Given the description of an element on the screen output the (x, y) to click on. 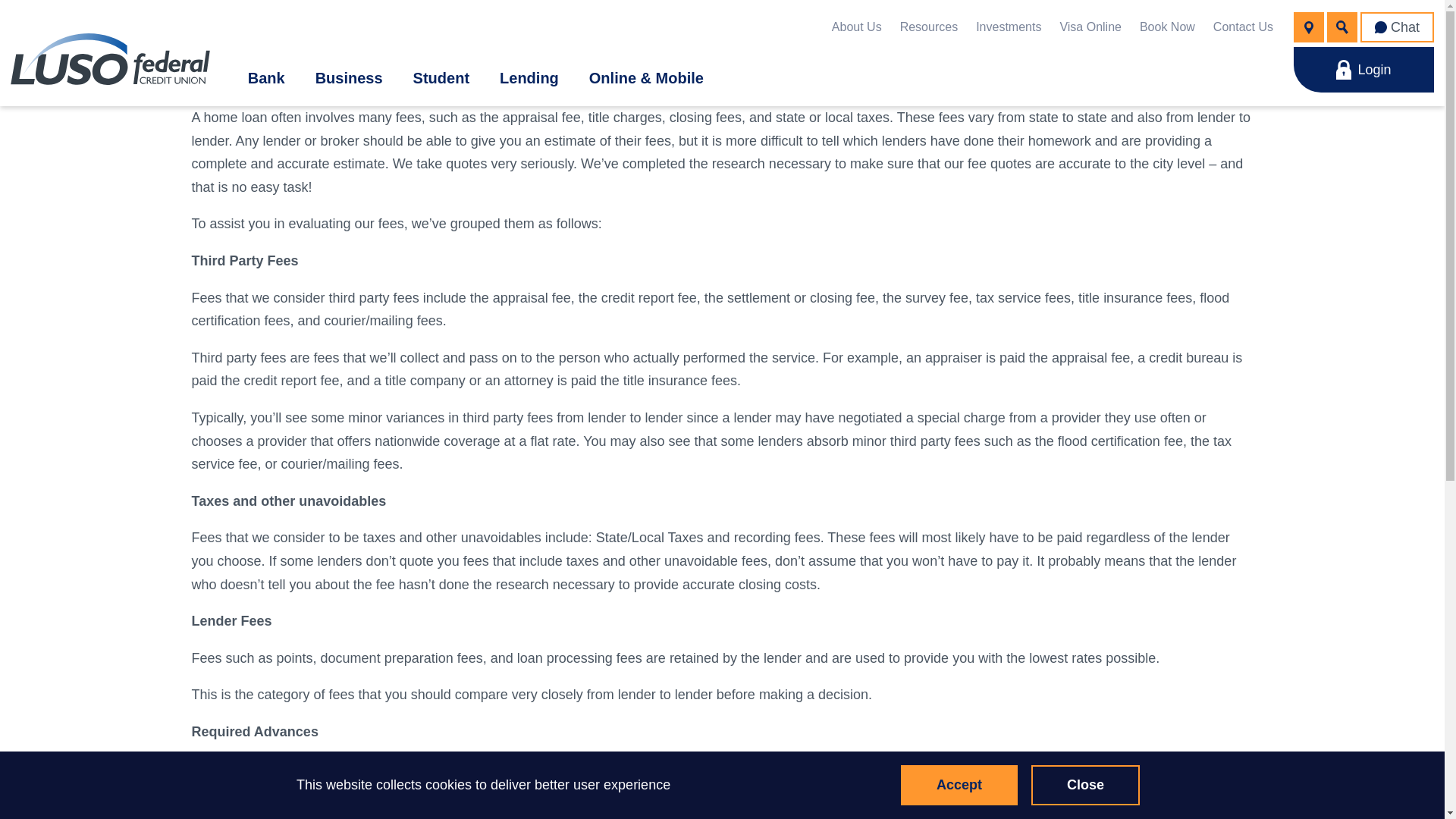
Business (348, 77)
Credit Cards (603, 166)
Business Loans (317, 272)
Mortgages (409, 370)
Personal Loans (525, 370)
Apply Now (1259, 255)
Checking (285, 219)
Investments (1008, 26)
Insurance (591, 219)
Book Now (1167, 26)
Contact Us (410, 370)
Login (1364, 69)
About Us (856, 26)
Chat (1396, 27)
Savings (279, 166)
